Given the description of an element on the screen output the (x, y) to click on. 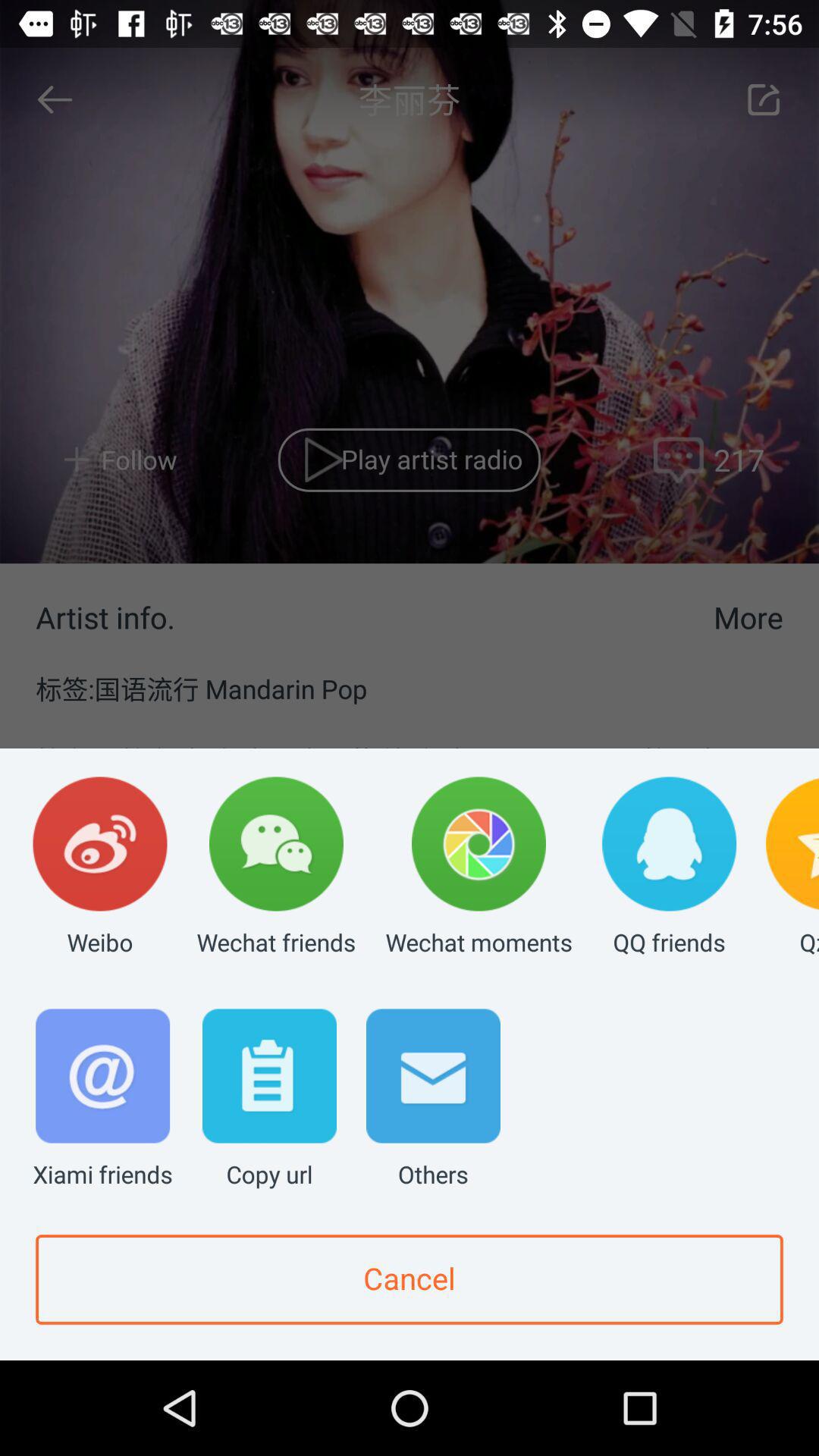
turn off the xiami friends item (102, 1099)
